Given the description of an element on the screen output the (x, y) to click on. 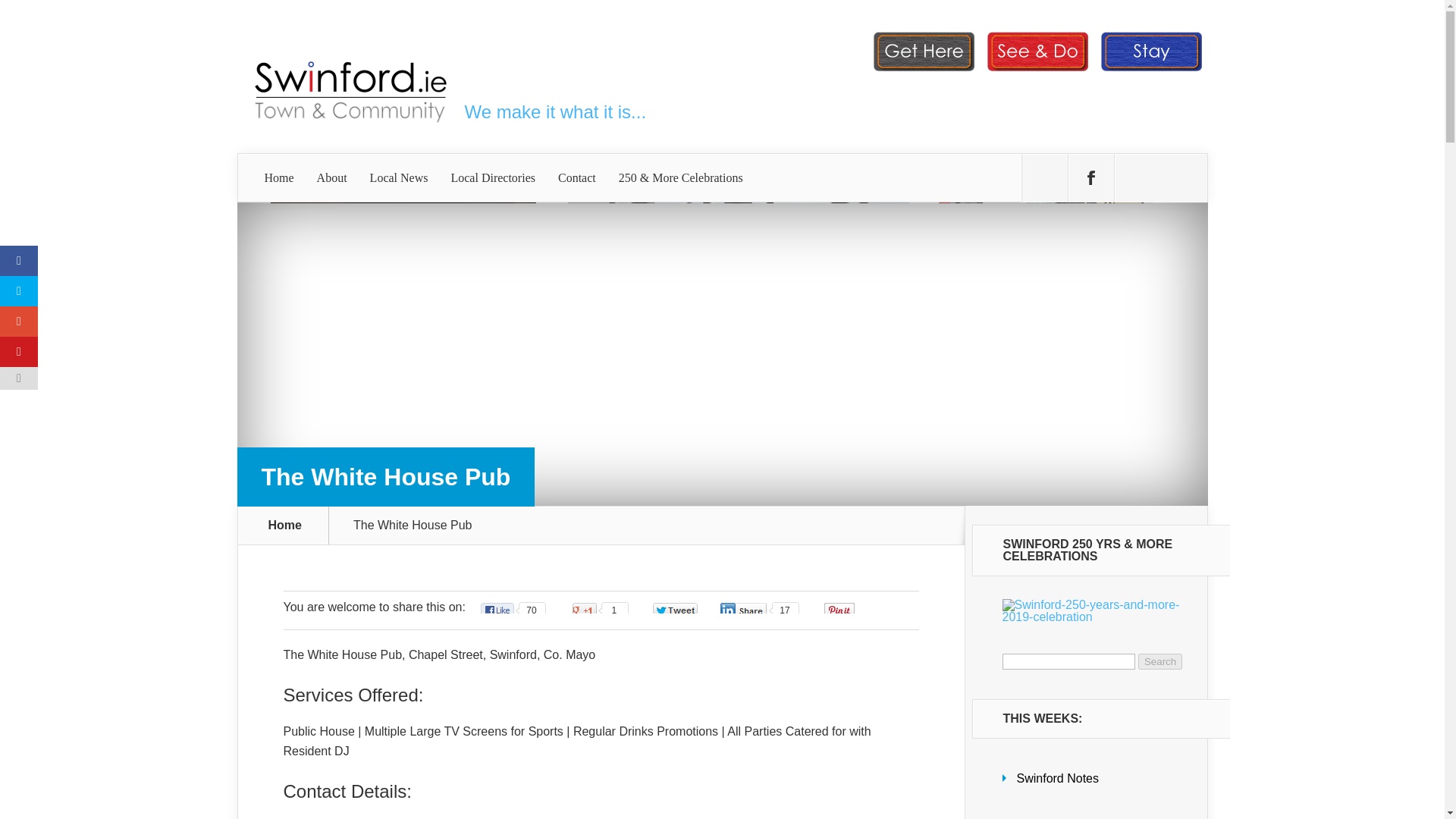
17 (759, 610)
Home (279, 177)
Local News (398, 177)
How to get to Swinford (922, 69)
Contact (577, 177)
Where to stay in Swinford (1150, 69)
Search (1160, 661)
70 (514, 610)
We make it what it is... (555, 111)
About (331, 177)
